Given the description of an element on the screen output the (x, y) to click on. 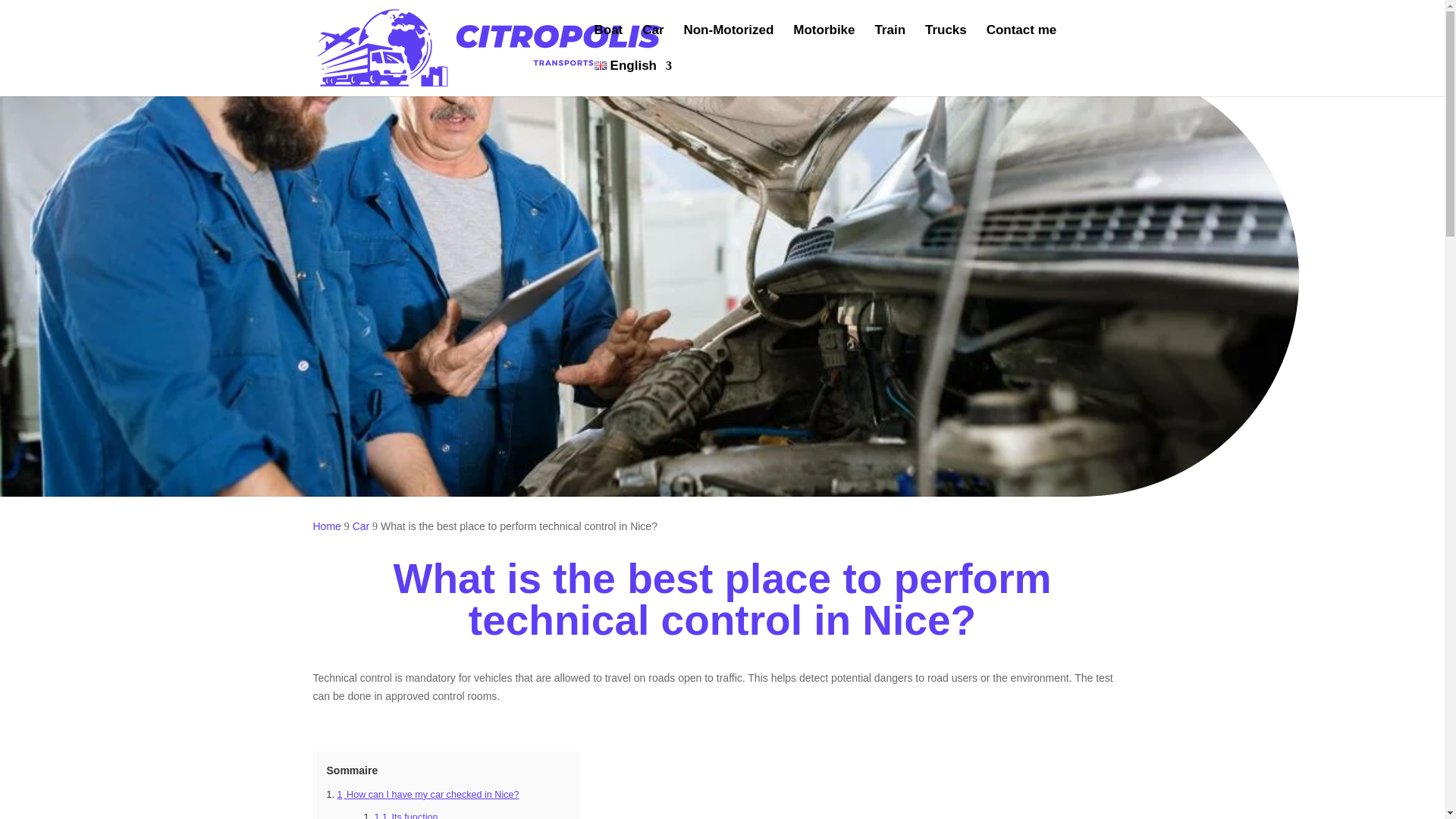
1 How can I have my car checked in Nice? (428, 794)
Non-Motorized (727, 42)
English (633, 78)
Contact me (1022, 42)
Home (326, 526)
1.1 Its function (406, 815)
Trucks (945, 42)
Car (360, 526)
Motorbike (823, 42)
